Given the description of an element on the screen output the (x, y) to click on. 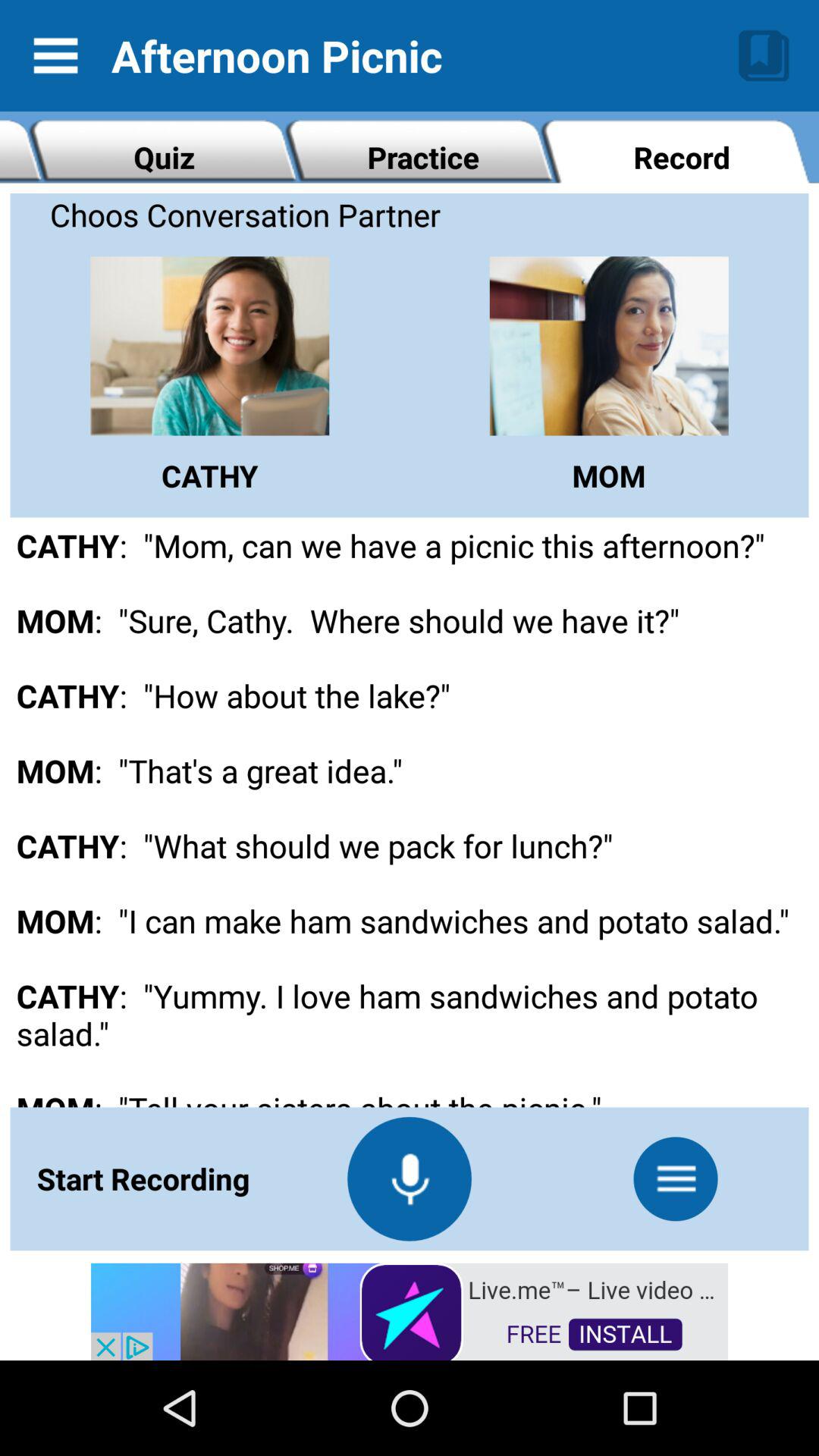
start recording (409, 1178)
